Given the description of an element on the screen output the (x, y) to click on. 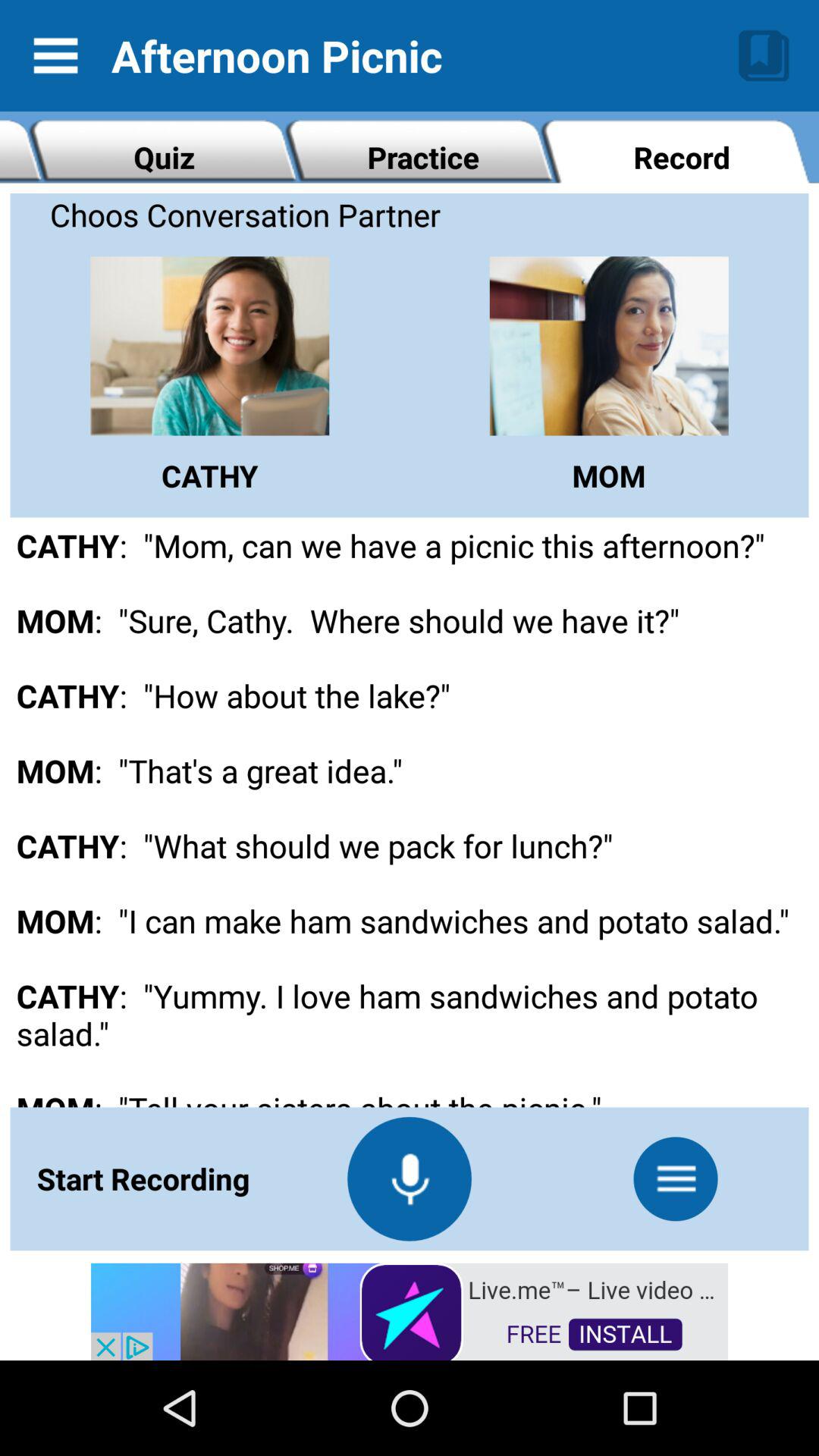
start recording (409, 1178)
